Given the description of an element on the screen output the (x, y) to click on. 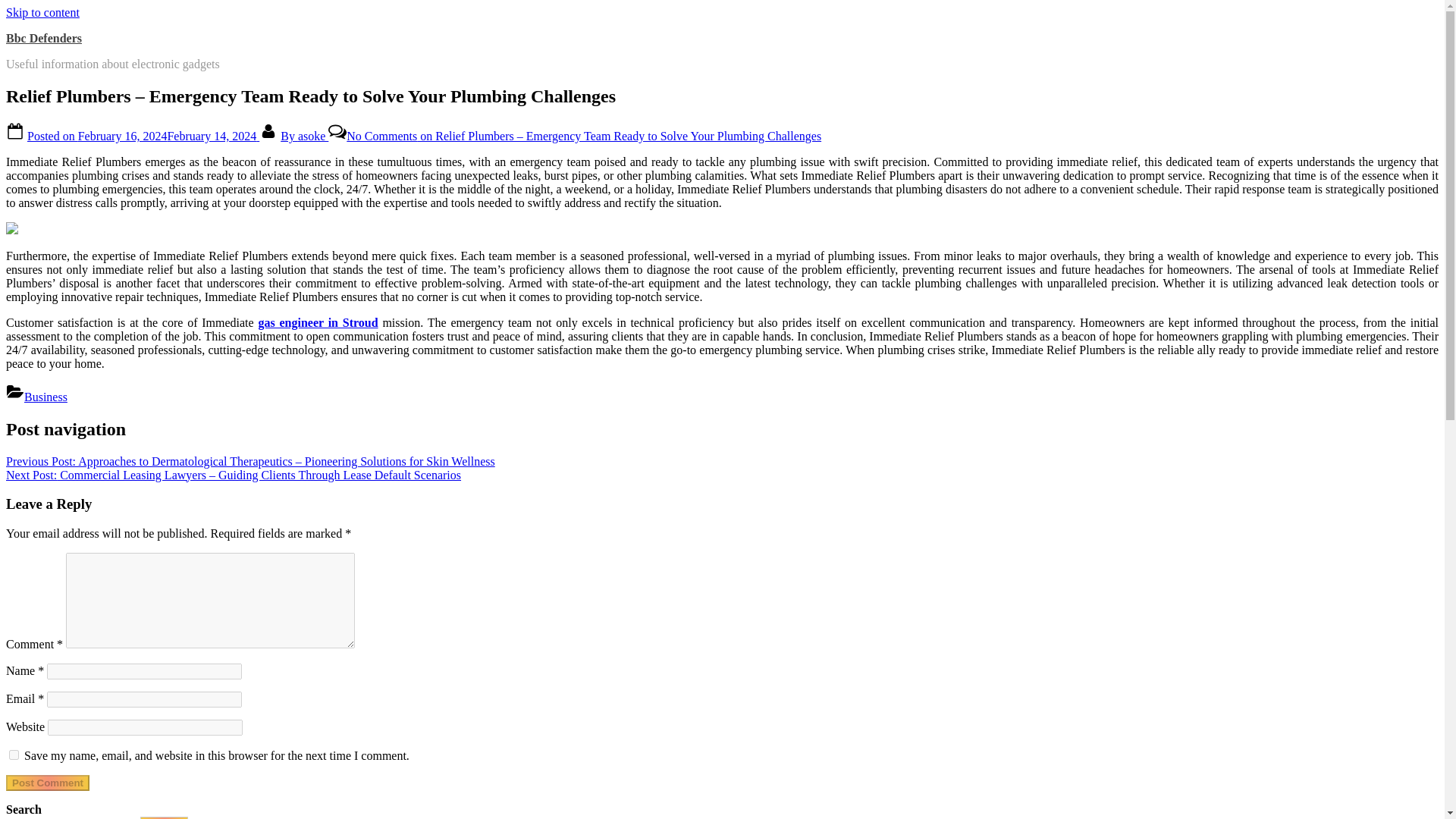
Skip to content (42, 11)
gas engineer in Stroud (317, 322)
Search (163, 817)
Business (45, 396)
Post Comment (46, 782)
Bbc Defenders (43, 38)
Posted on February 16, 2024February 14, 2024 (143, 135)
yes (13, 755)
Post Comment (46, 782)
By asoke (305, 135)
